Given the description of an element on the screen output the (x, y) to click on. 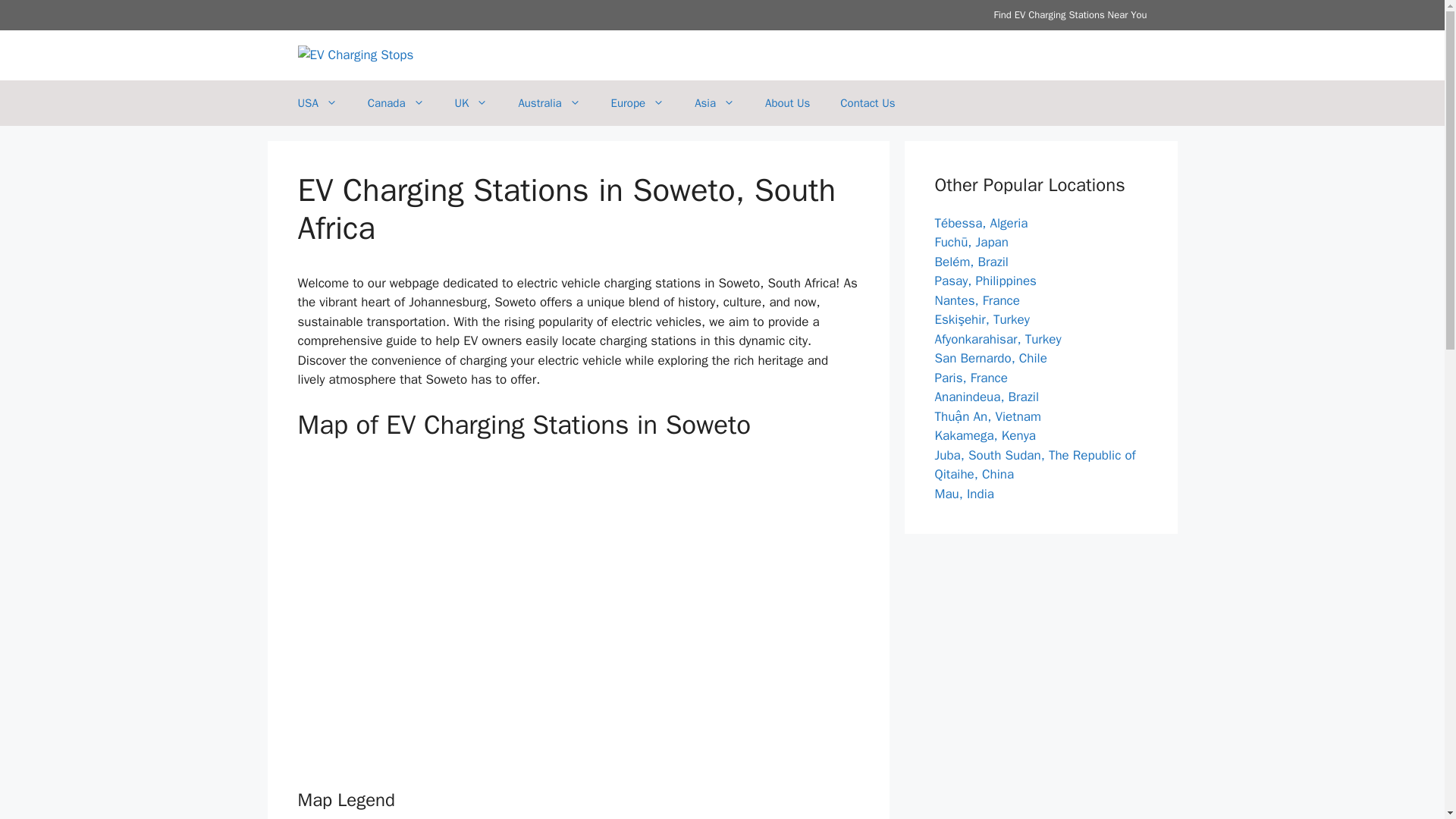
Canada (395, 103)
Australia (548, 103)
UK (471, 103)
USA (317, 103)
